Given the description of an element on the screen output the (x, y) to click on. 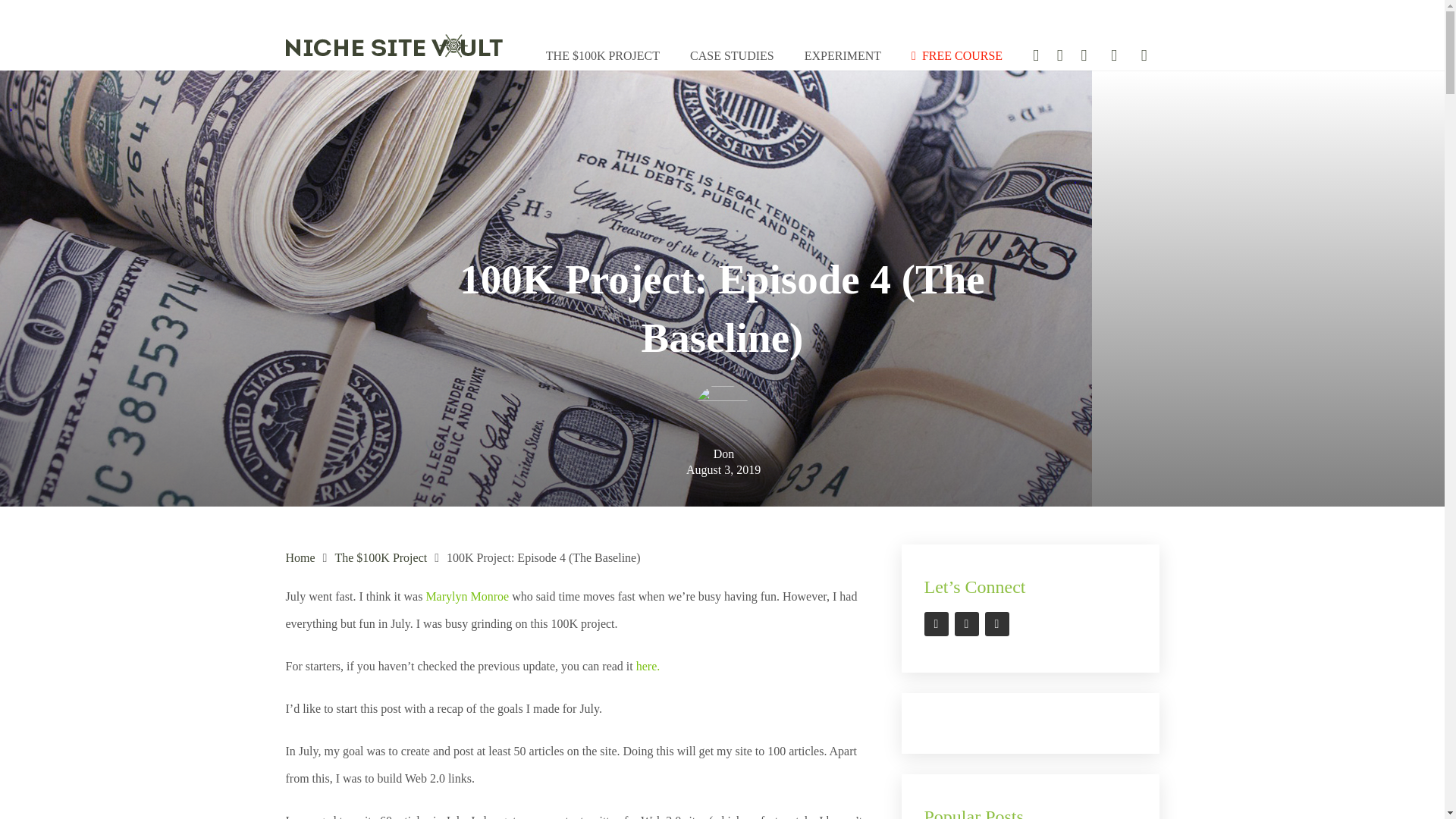
Don (724, 453)
Twitter (996, 623)
here. (648, 666)
CASE STUDIES (732, 55)
EXPERIMENT (842, 55)
FREE COURSE (956, 55)
Instagram (965, 623)
Marylyn Monroe (466, 595)
Home (299, 557)
Posts by Don (724, 453)
